Given the description of an element on the screen output the (x, y) to click on. 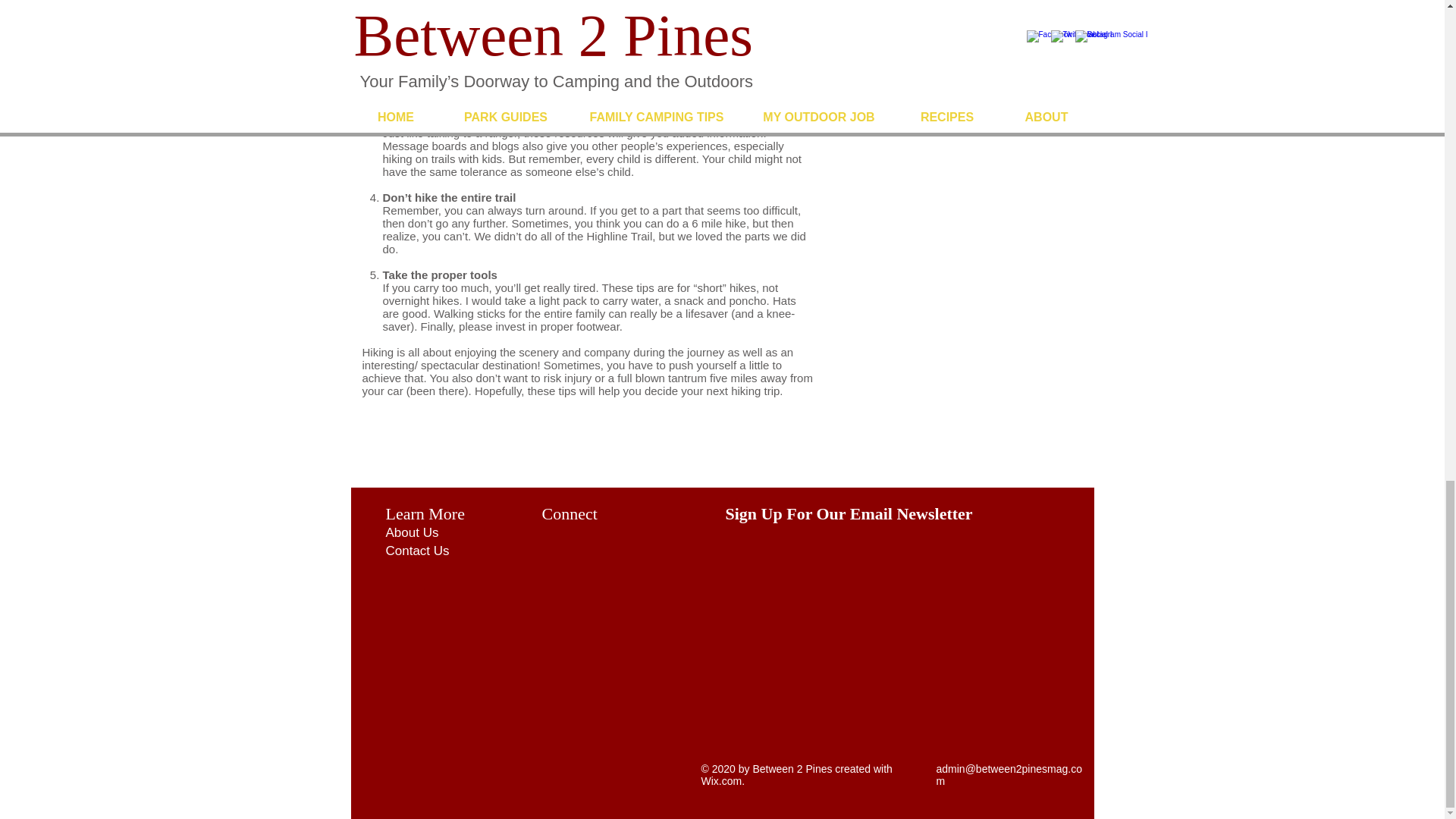
About Us (411, 533)
Wix.com. (722, 780)
Contact Us (416, 551)
